Given the description of an element on the screen output the (x, y) to click on. 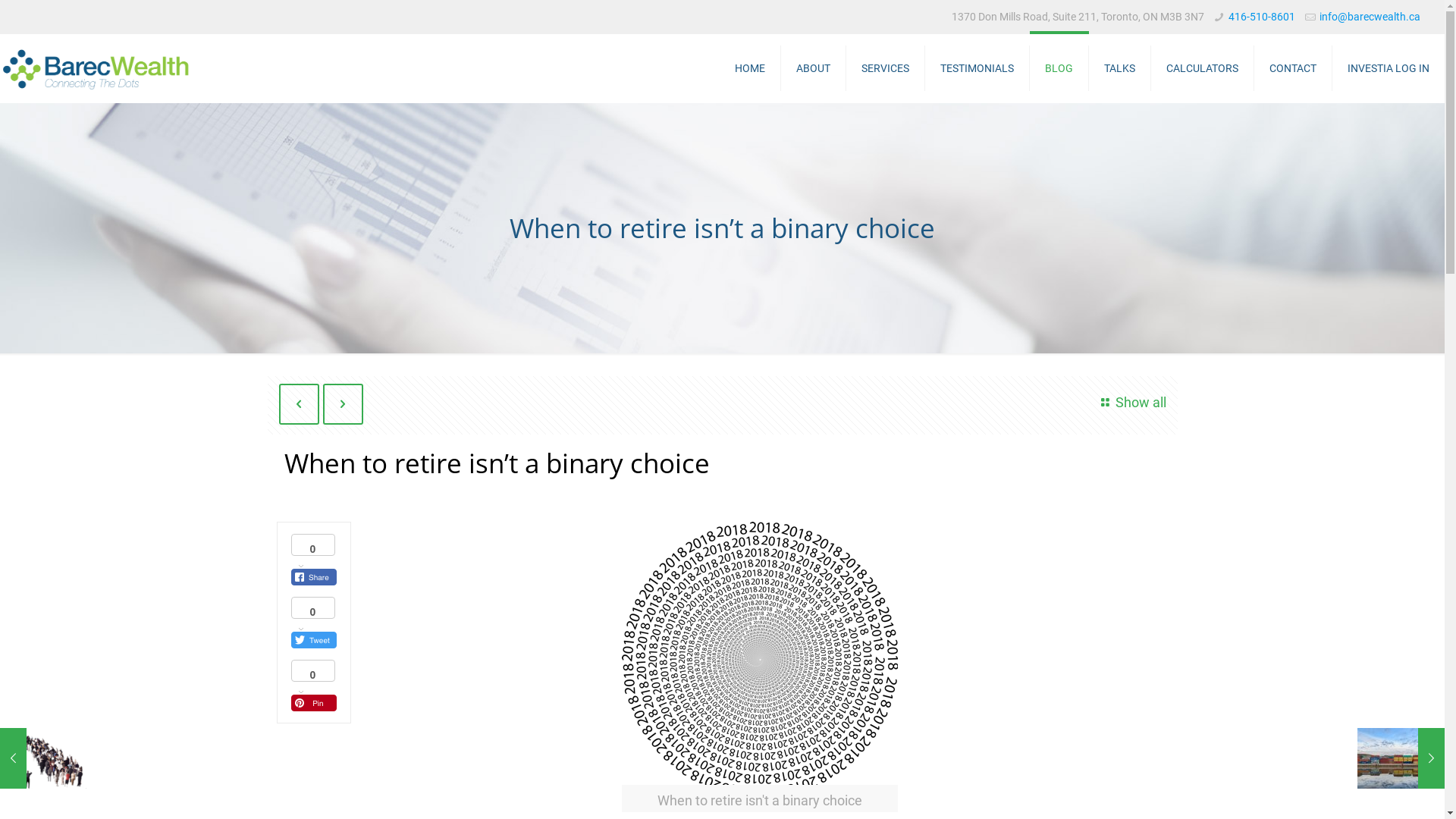
BarecWealth Element type: hover (95, 68)
TESTIMONIALS Element type: text (977, 68)
ABOUT Element type: text (813, 68)
BLOG Element type: text (1058, 68)
SERVICES Element type: text (885, 68)
CONTACT Element type: text (1293, 68)
416-510-8601 Element type: text (1261, 16)
TALKS Element type: text (1119, 68)
INVESTIA LOG IN Element type: text (1388, 68)
HOME Element type: text (750, 68)
Show all Element type: text (1130, 401)
info@barecwealth.ca Element type: text (1369, 16)
CALCULATORS Element type: text (1202, 68)
